Given the description of an element on the screen output the (x, y) to click on. 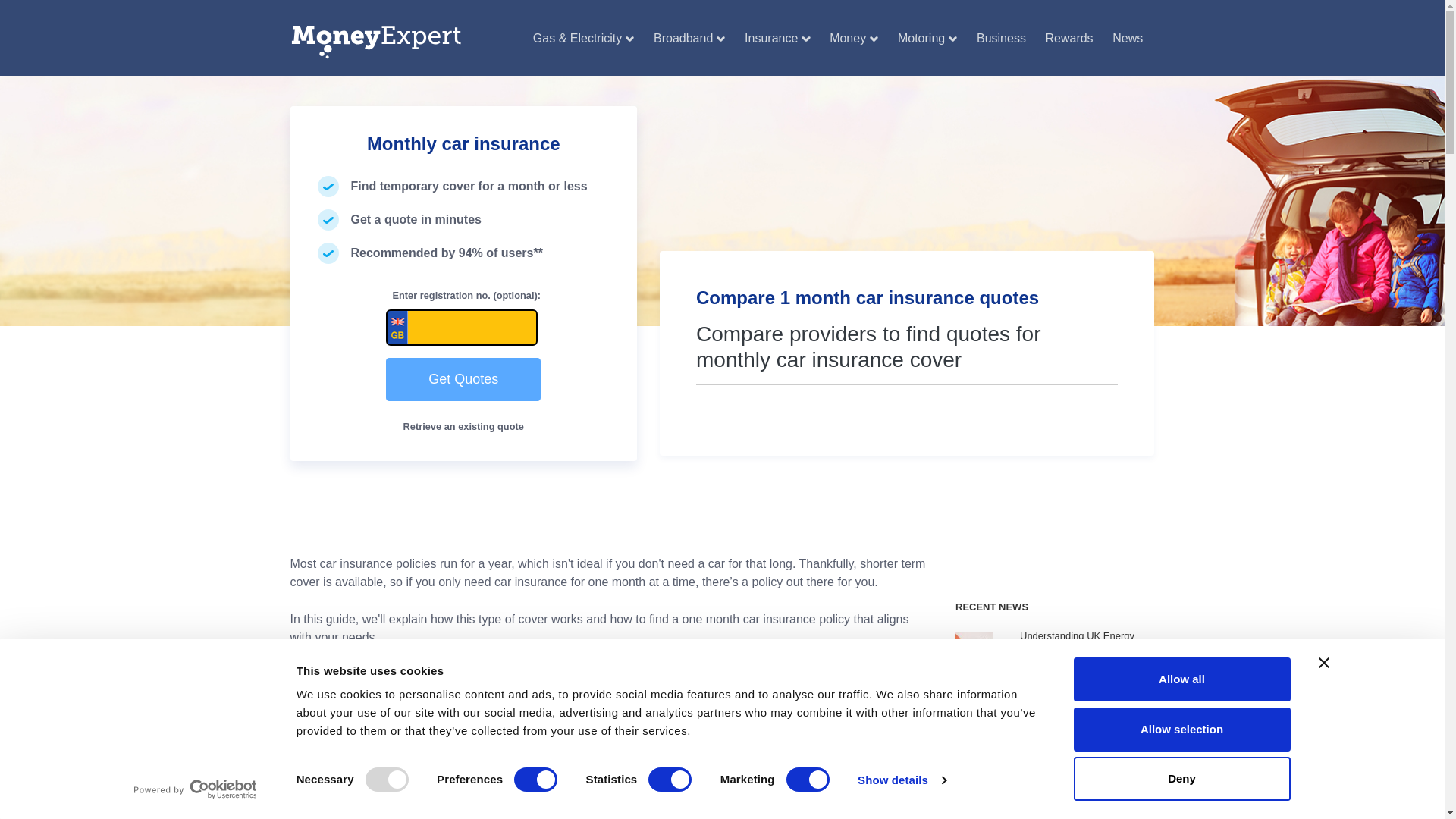
Allow selection (1182, 728)
Customer reviews powered by Trustpilot (906, 411)
Deny (1182, 778)
Show details (900, 780)
Allow all (1182, 679)
